Given the description of an element on the screen output the (x, y) to click on. 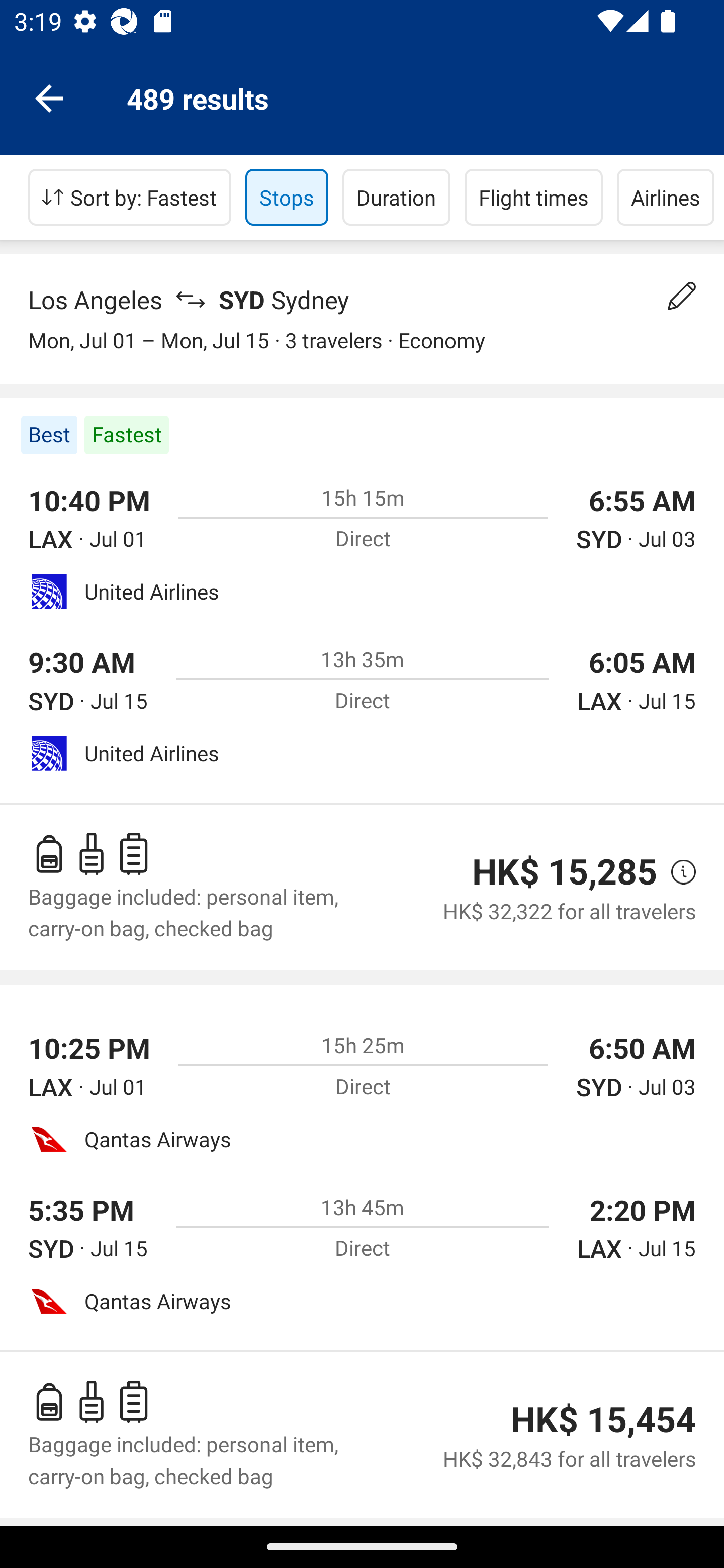
Navigate up (49, 97)
Sort by: Fastest (129, 197)
Stops (286, 197)
Duration (396, 197)
Flight times (533, 197)
Airlines (665, 197)
Change your search details (681, 296)
HK$ 15,285 (564, 871)
view price details, opens a pop-up (676, 872)
HK$ 15,454 (603, 1419)
